Given the description of an element on the screen output the (x, y) to click on. 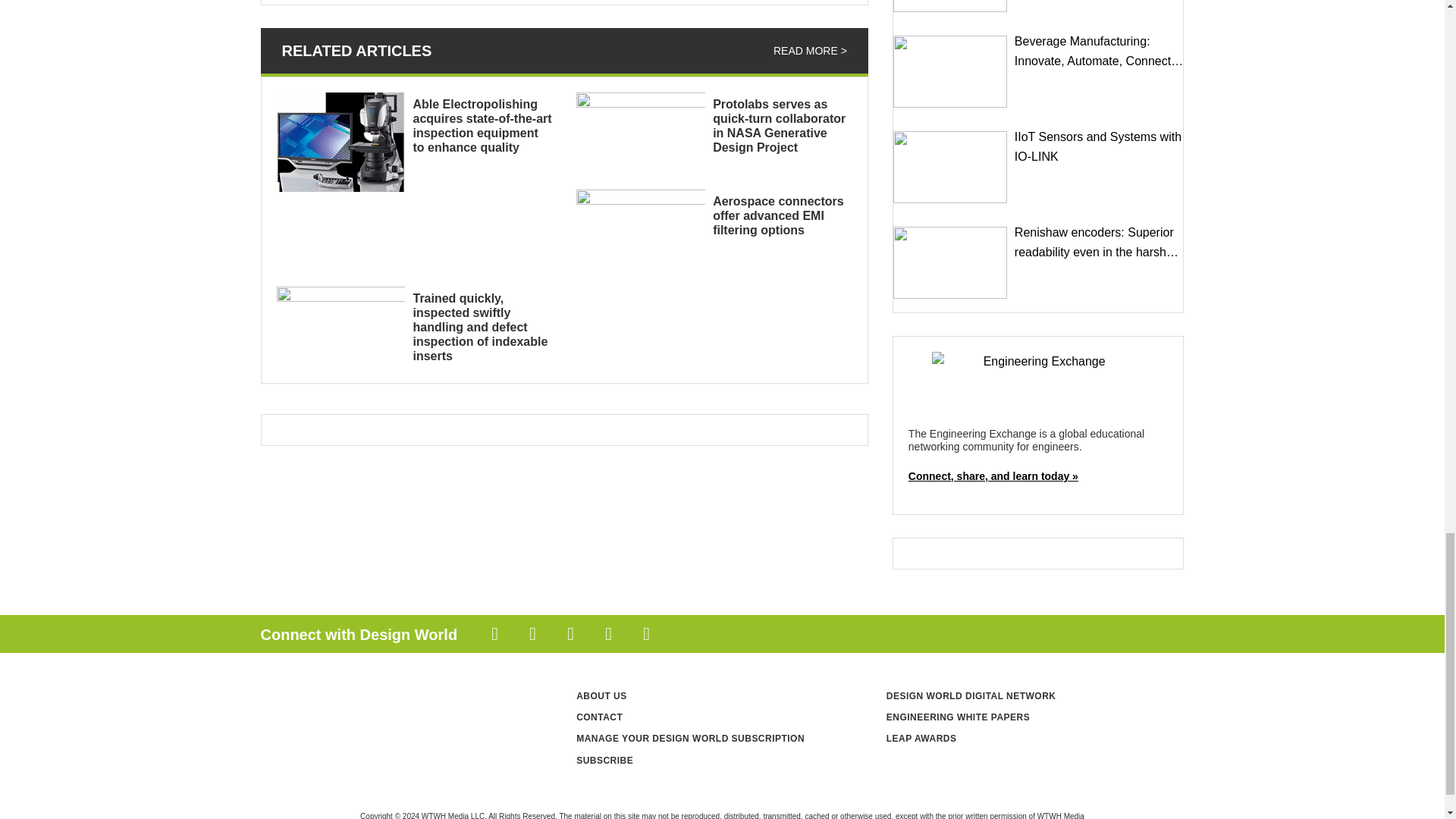
eBook: Setting The Standard For Precise Alignment (950, 6)
IIoT Sensors and Systems with IO-LINK (950, 167)
Beverage Manufacturing: Innovate, Automate, Connect, Grow (950, 71)
